Given the description of an element on the screen output the (x, y) to click on. 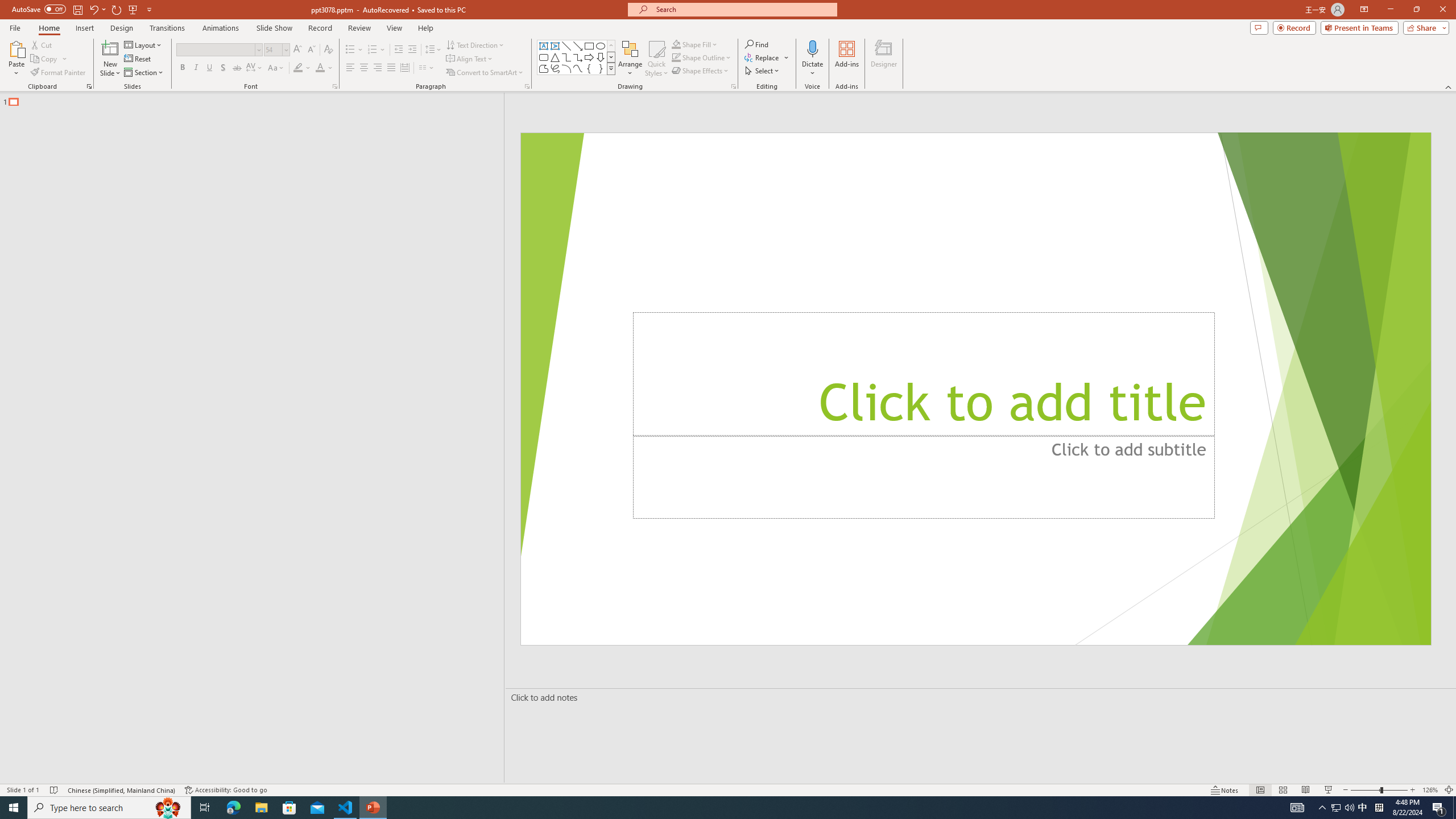
Zoom 126% (1430, 790)
